Given the description of an element on the screen output the (x, y) to click on. 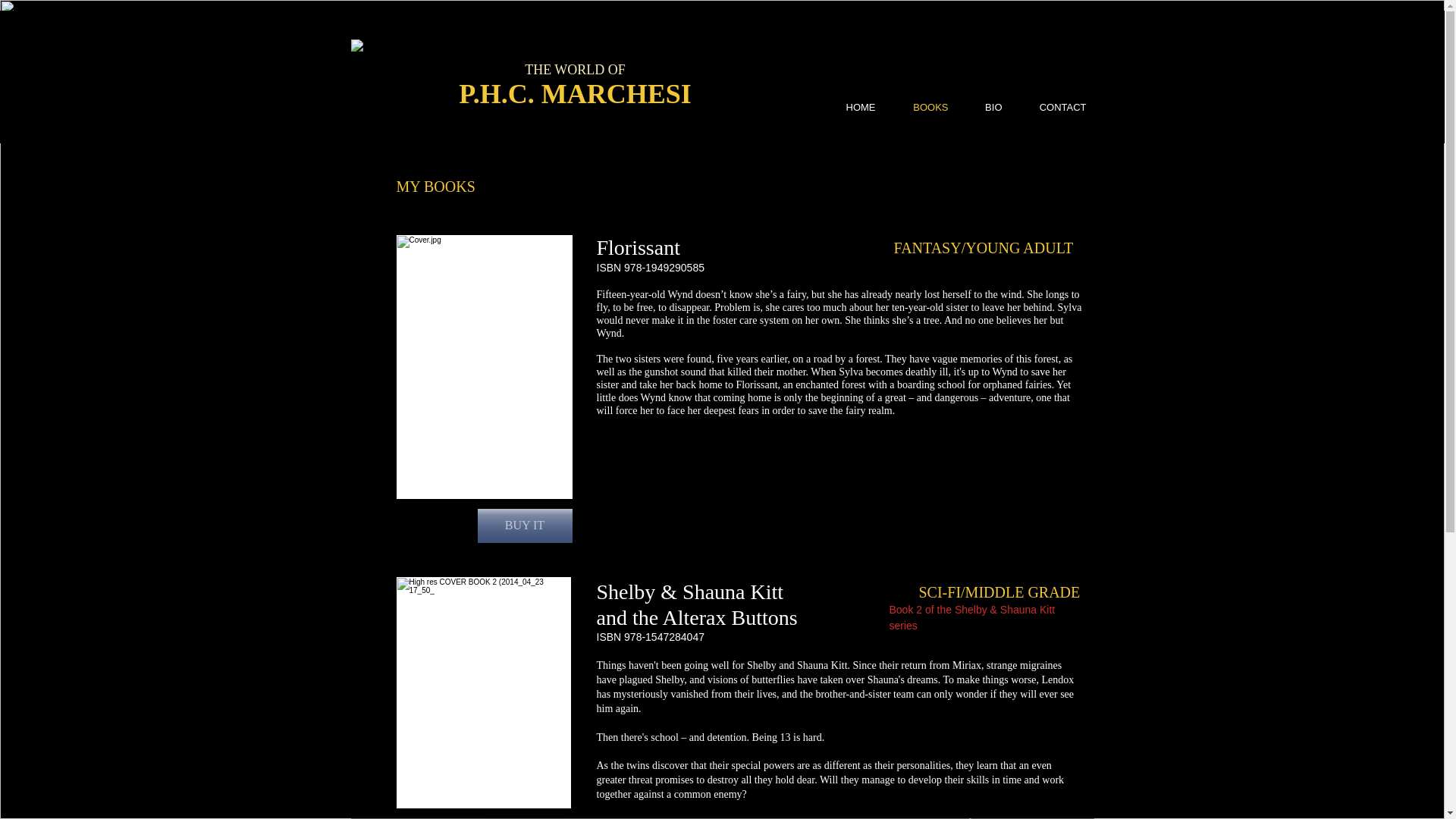
HOME (849, 106)
BUY IT (524, 525)
BOOKS (919, 106)
CONTACT (1052, 106)
BIO (983, 106)
P.H.C. M (512, 93)
